Given the description of an element on the screen output the (x, y) to click on. 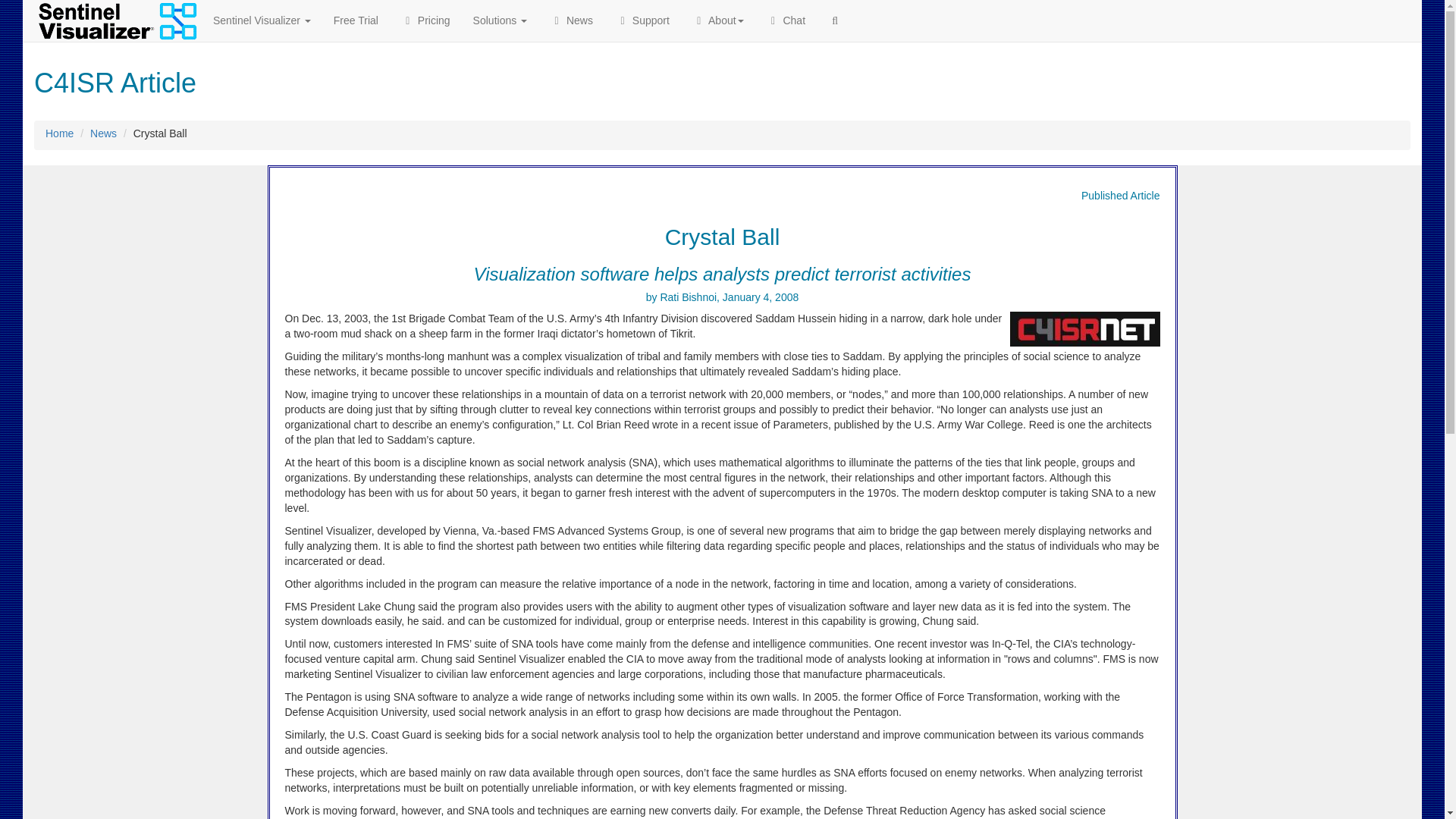
Support (642, 20)
Solutions (499, 20)
Sentinel Visualizer (261, 20)
News (571, 20)
Pricing (425, 20)
Free Trial (355, 20)
